Given the description of an element on the screen output the (x, y) to click on. 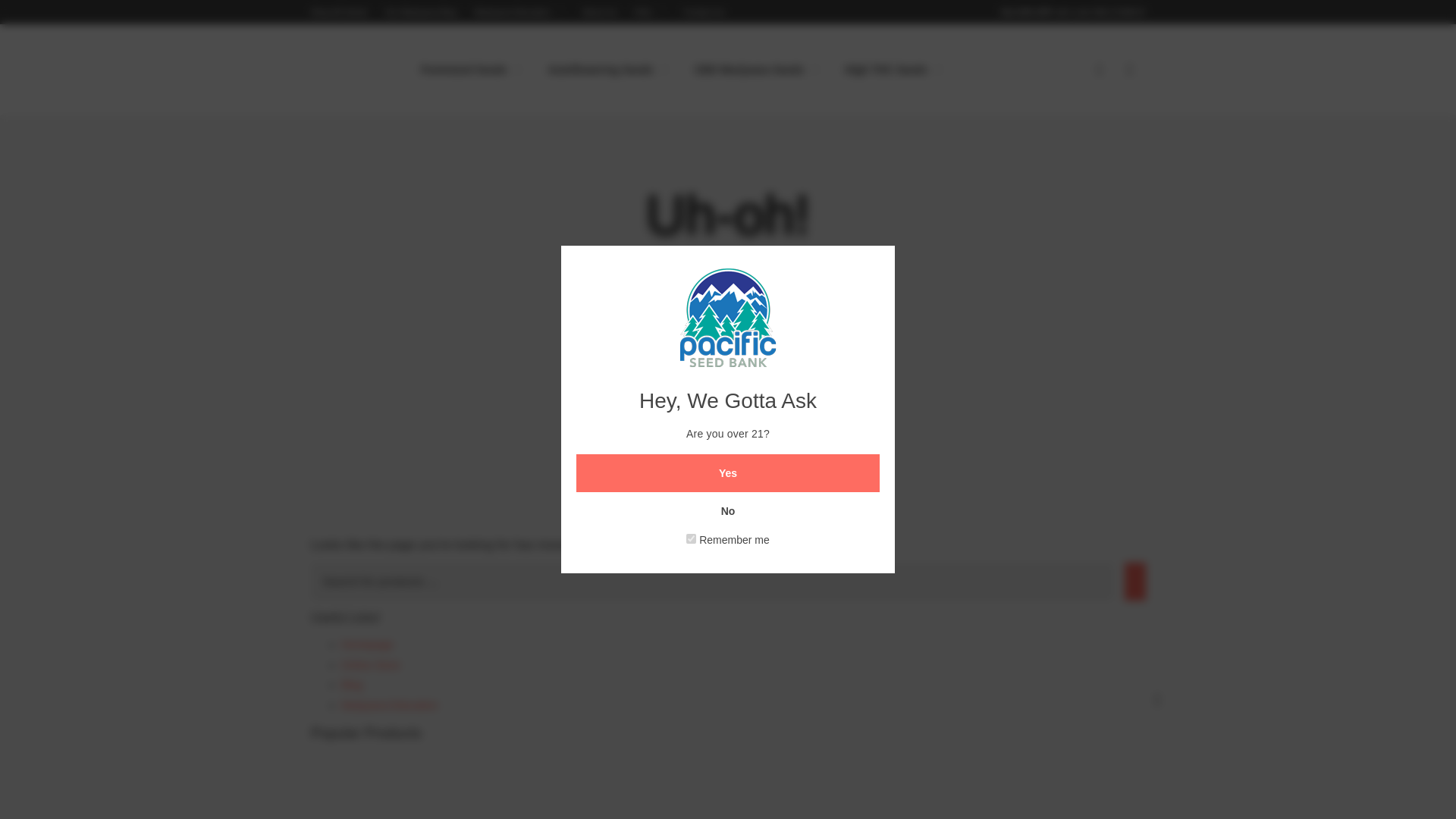
1 (690, 538)
About Us (598, 11)
No (727, 510)
Pacific Seed Bank (349, 70)
Marijuana Education (520, 11)
Shop All Seeds (339, 11)
Our Marijuana Blog (421, 11)
FAQ (649, 11)
Feminized Seeds (472, 69)
Contact Us (702, 11)
Yes (727, 473)
Search for: (712, 581)
